Given the description of an element on the screen output the (x, y) to click on. 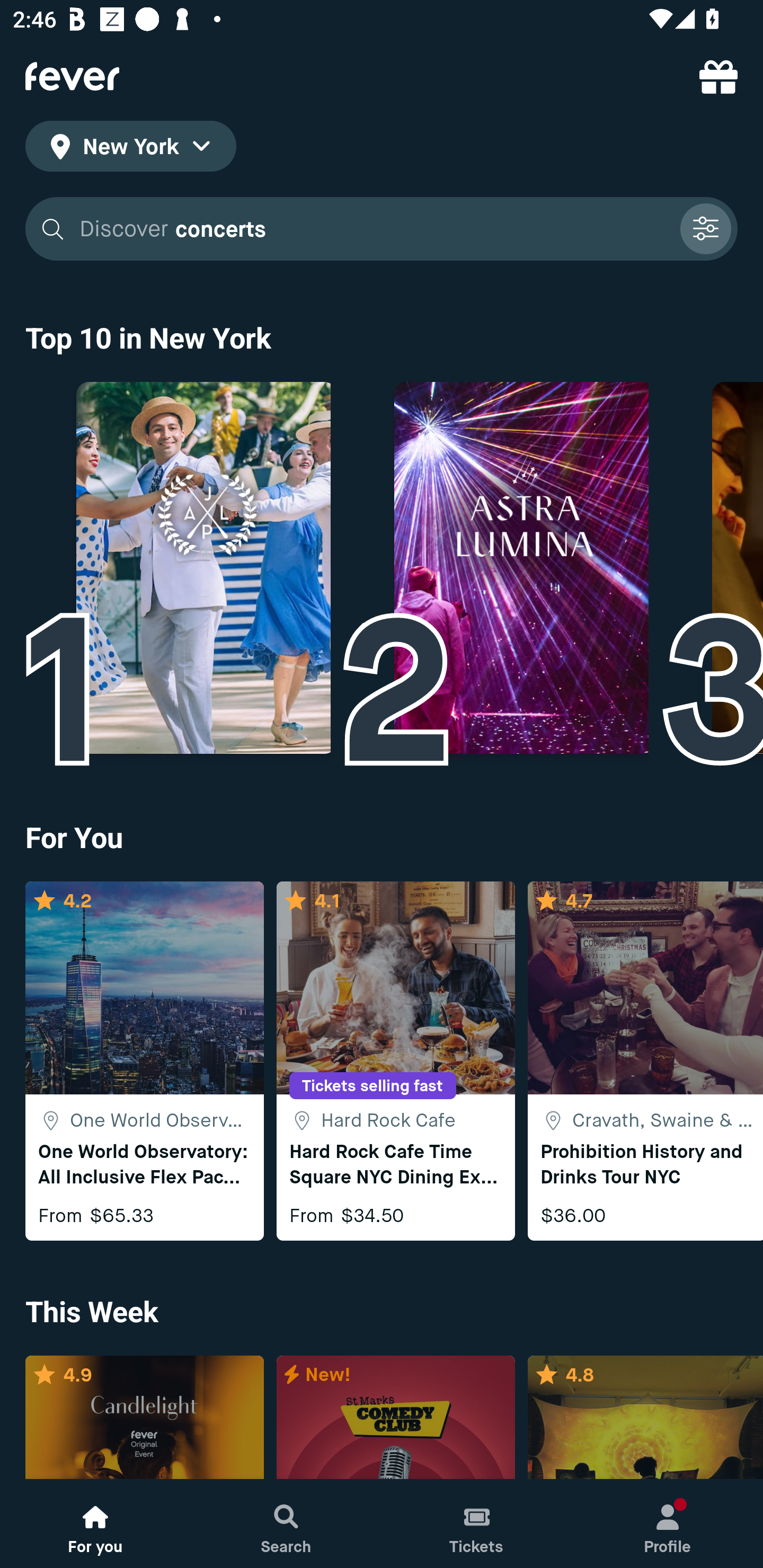
referral (718, 75)
location icon New York location icon (130, 149)
Discover concerts (381, 228)
Discover concerts (373, 228)
cover image 50.0 4.9 Fever exclusive (144, 1417)
cover image New! label New! Fever exclusive (395, 1417)
cover image 50.0 4.8 (645, 1417)
Search (285, 1523)
Tickets (476, 1523)
Profile, New notification Profile (667, 1523)
